Given the description of an element on the screen output the (x, y) to click on. 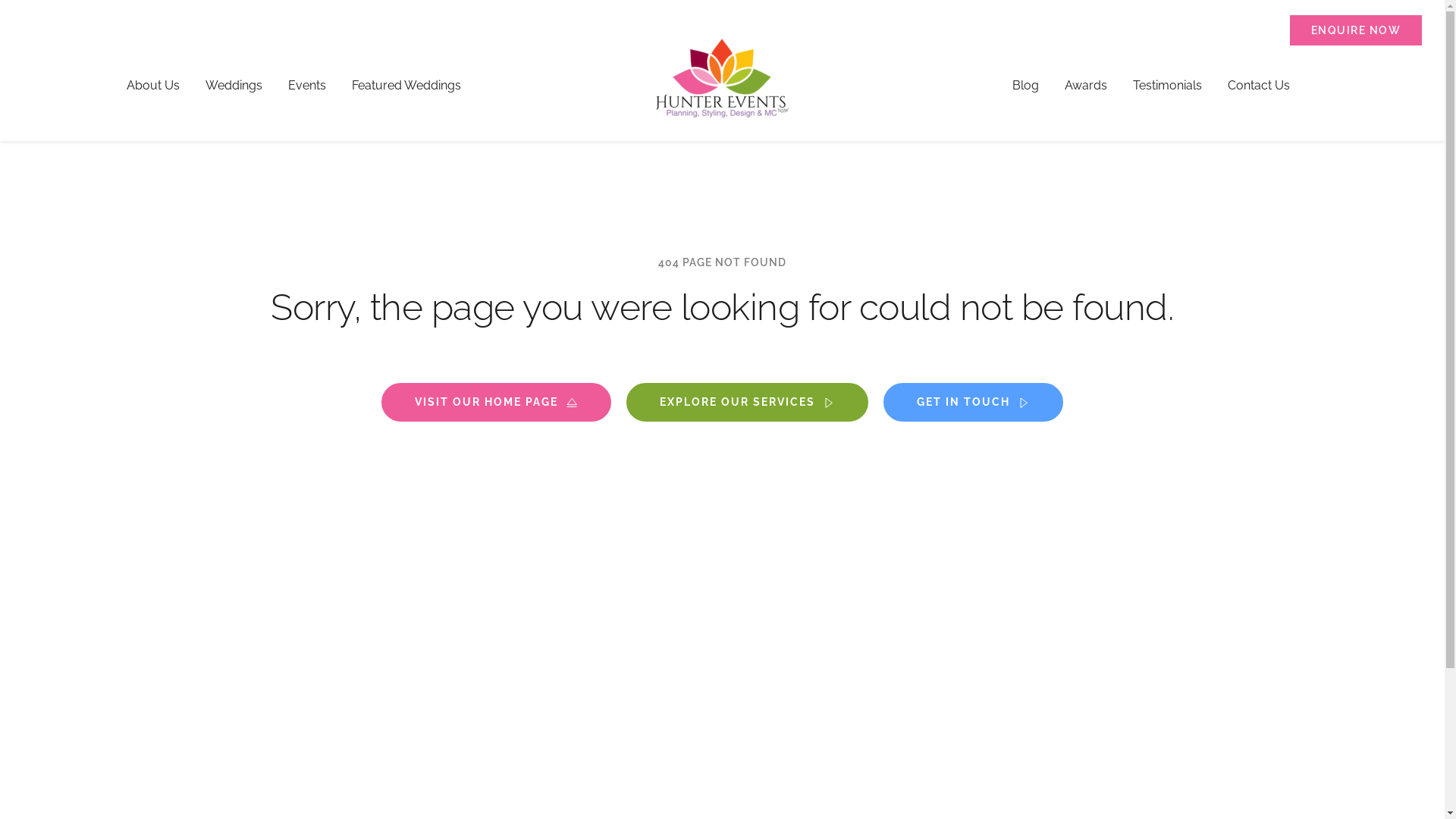
Weddings Element type: text (233, 85)
ENQUIRE NOW Element type: text (1355, 30)
Featured Weddings Element type: text (405, 85)
Contact Us Element type: text (1258, 85)
Blog Element type: text (1025, 85)
Events Element type: text (306, 85)
GET IN TOUCH Element type: text (973, 402)
Awards Element type: text (1085, 85)
VISIT OUR HOME PAGE Element type: text (496, 402)
About Us Element type: text (152, 85)
EXPLORE OUR SERVICES Element type: text (747, 402)
Testimonials Element type: text (1167, 85)
